Given the description of an element on the screen output the (x, y) to click on. 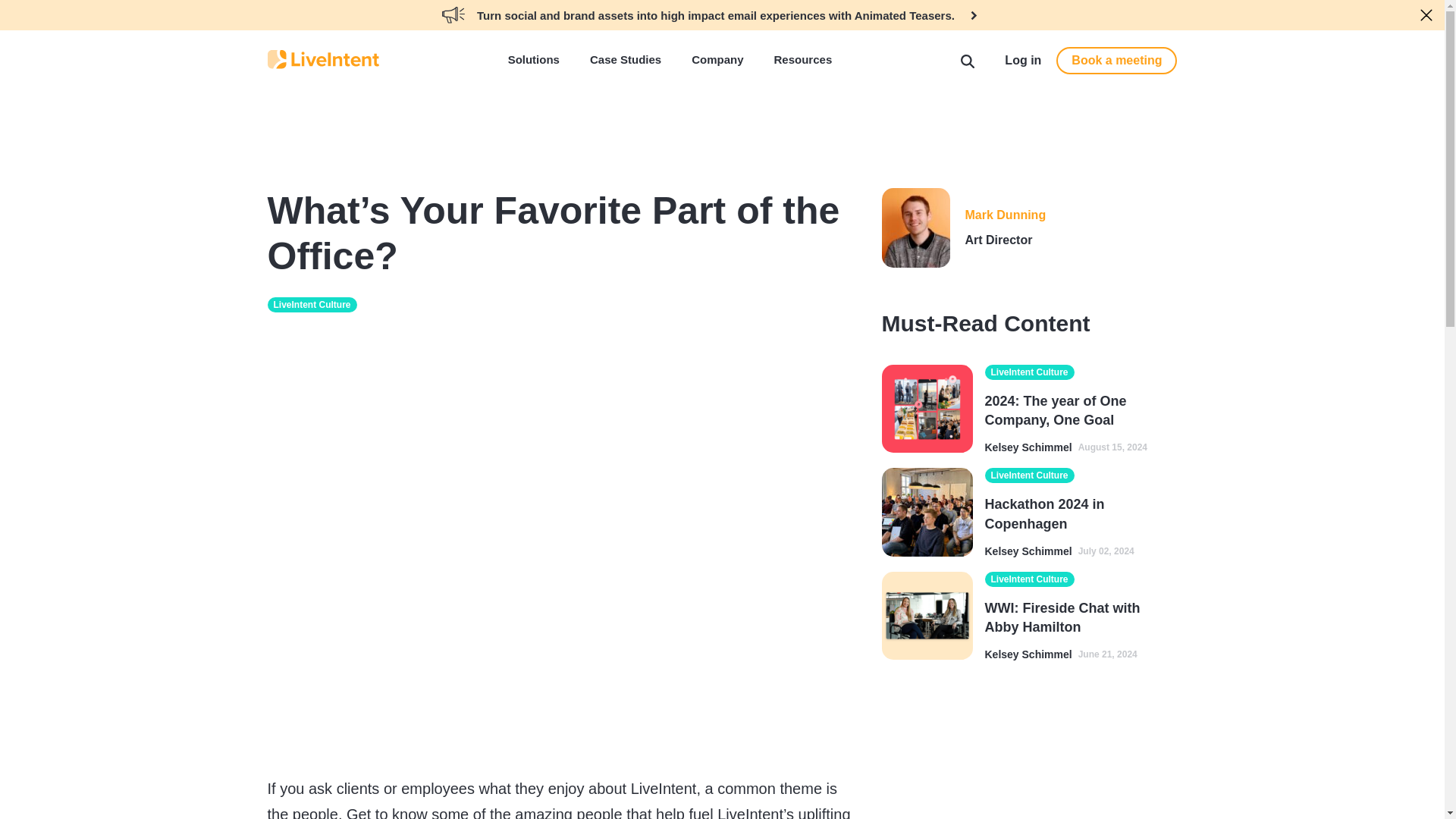
Log in (1022, 60)
Book a meeting (1116, 60)
Case Studies (625, 61)
